Given the description of an element on the screen output the (x, y) to click on. 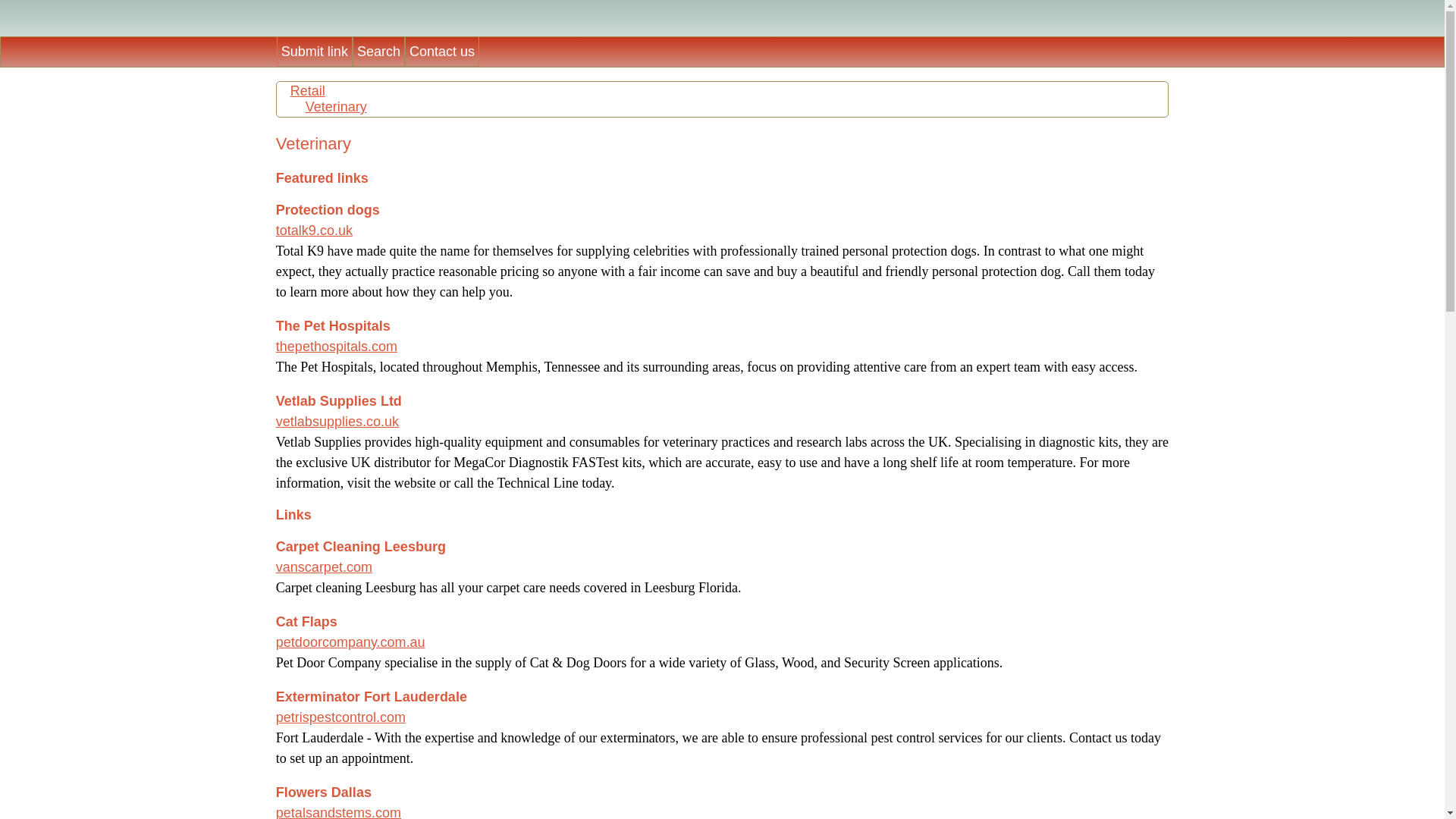
totalk9.co.uk (314, 230)
 Submit link  (314, 51)
Veterinary (335, 106)
petdoorcompany.com.au (350, 642)
vetlabsupplies.co.uk (337, 421)
petrispestcontrol.com (341, 717)
Retail (306, 90)
thepethospitals.com (336, 346)
 Contact us  (441, 51)
petalsandstems.com (338, 812)
